Given the description of an element on the screen output the (x, y) to click on. 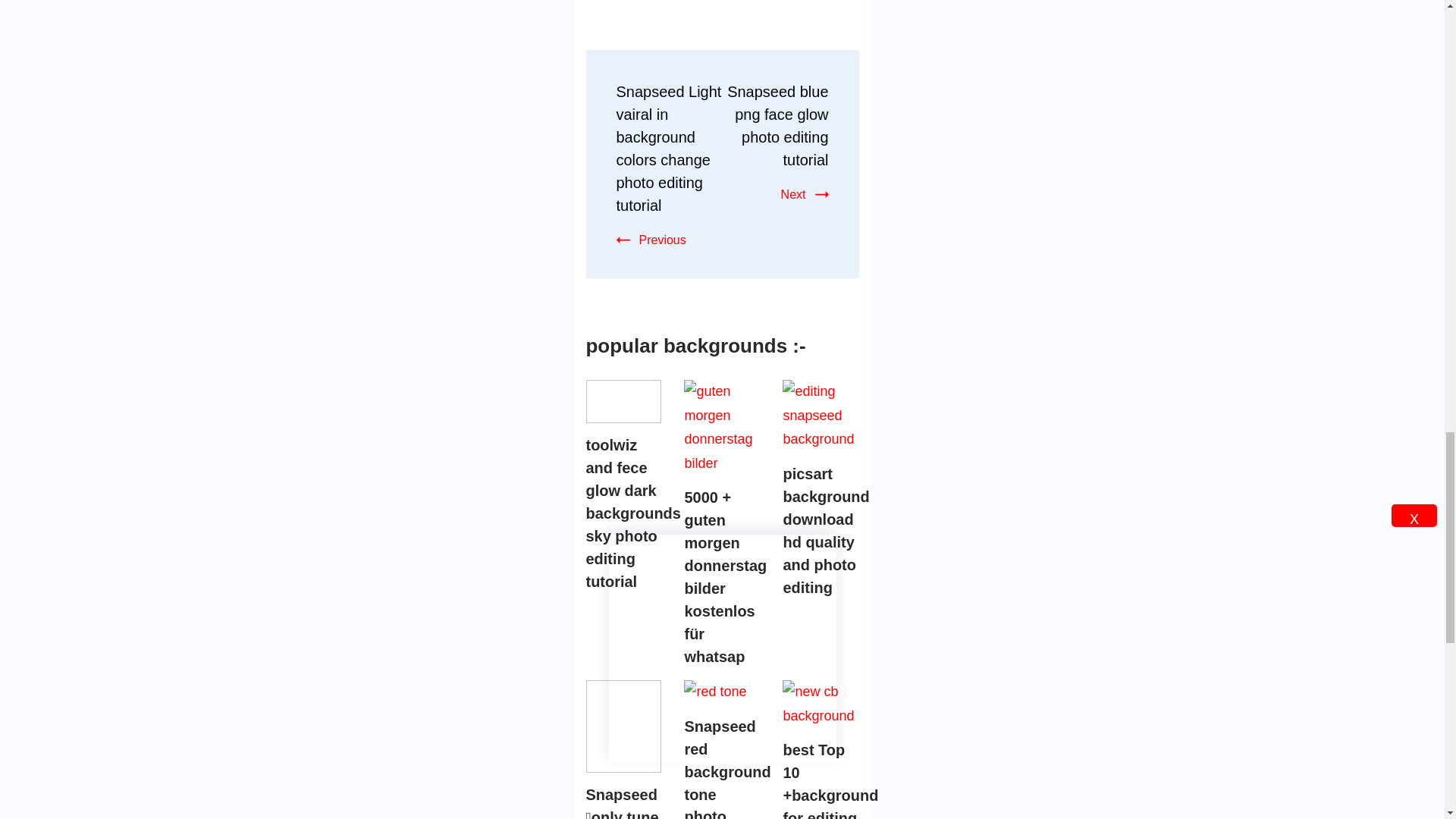
Previous (650, 239)
Snapseed blue png face glow photo editing tutorial (777, 125)
